Given the description of an element on the screen output the (x, y) to click on. 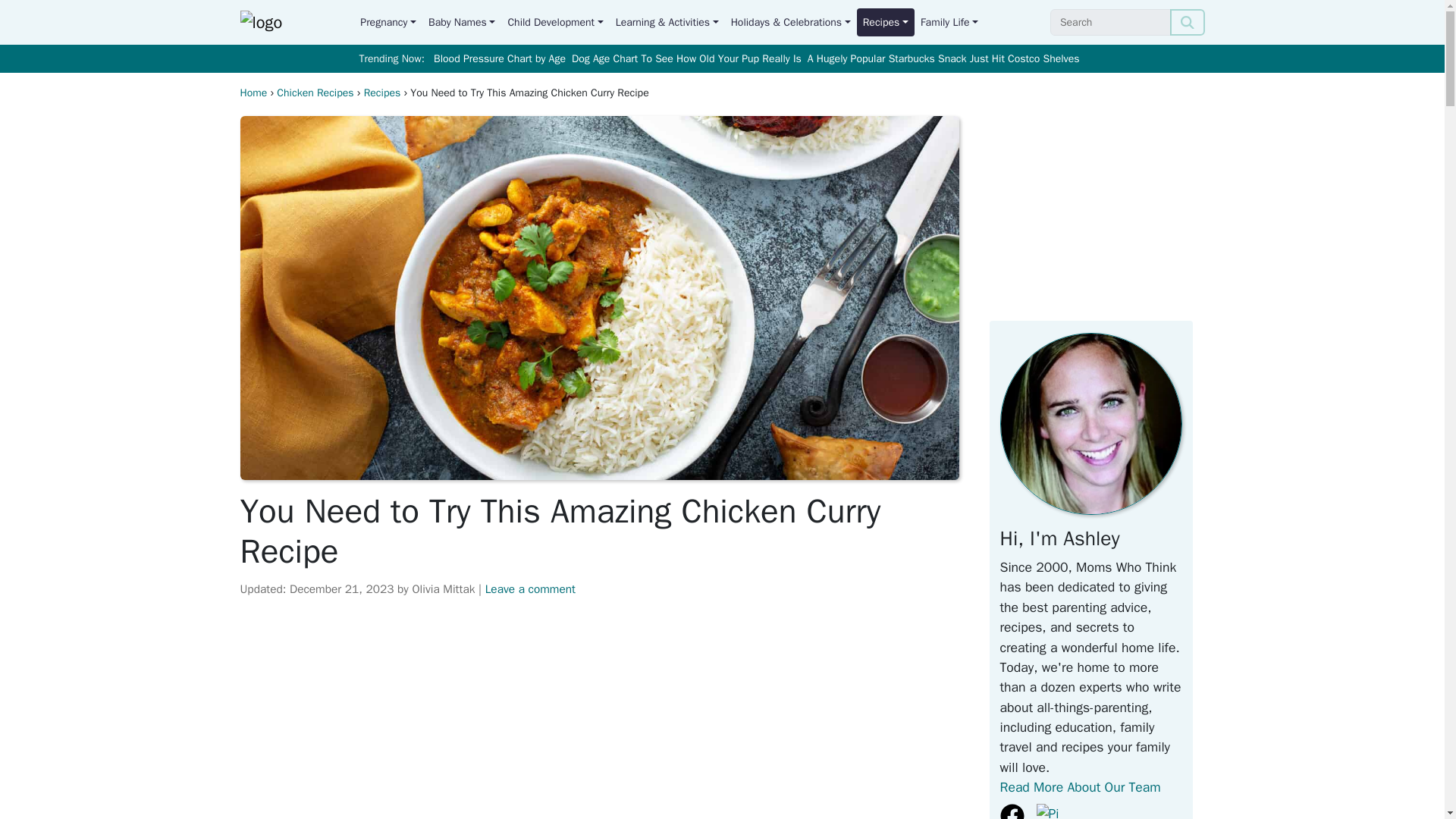
Baby Names (461, 22)
Recipes (885, 22)
Child Development (554, 22)
Pregnancy (387, 22)
